Given the description of an element on the screen output the (x, y) to click on. 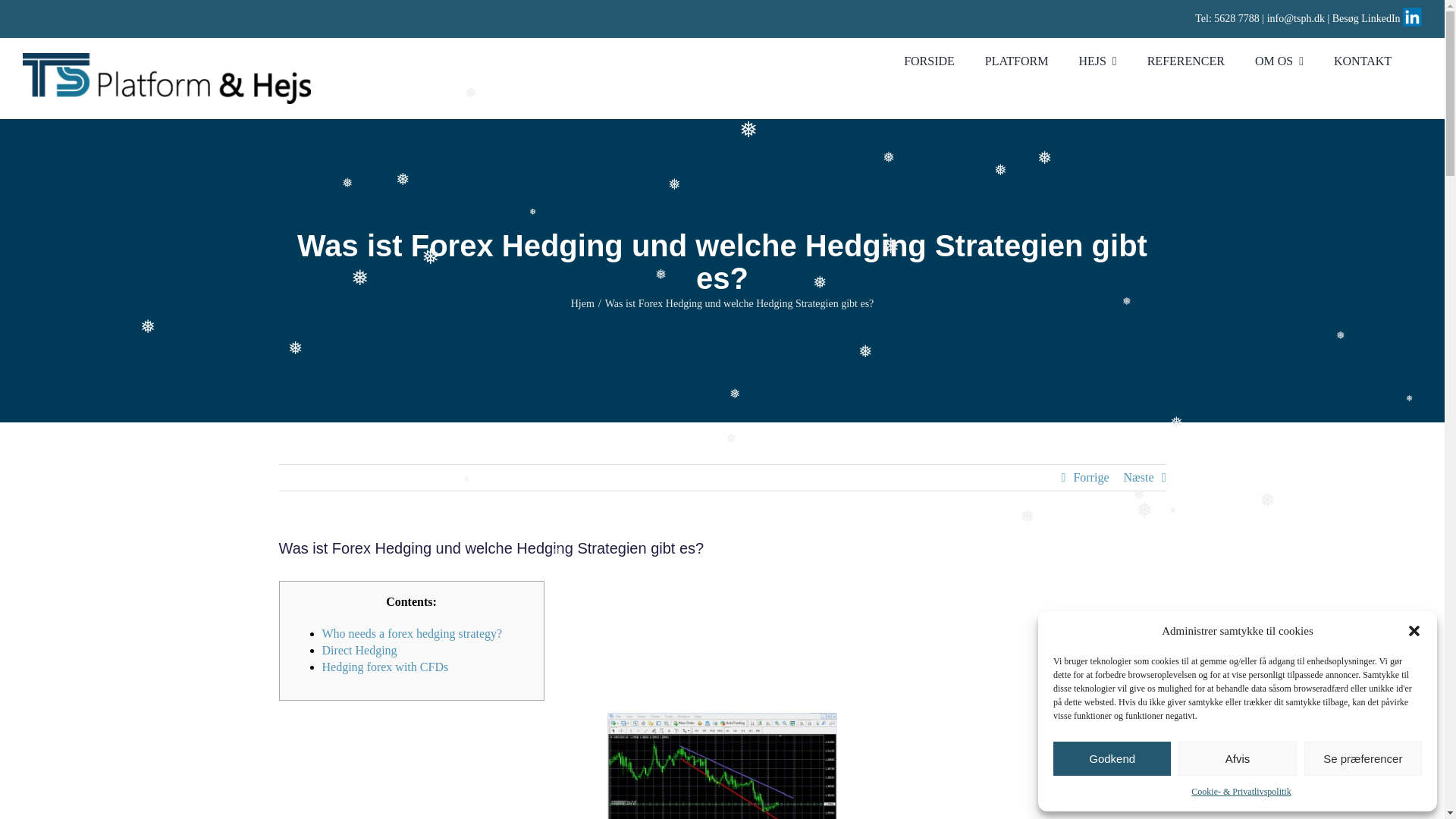
Who needs a forex hedging strategy? (411, 633)
FORSIDE (944, 53)
Direct Hedging (358, 649)
KONTAKT (1377, 53)
Tel: 5628 7788 (1227, 18)
HEJS (1112, 53)
Godkend (1111, 758)
OM OS (1294, 53)
PLATFORM (1031, 53)
Afvis (1236, 758)
Hjem (582, 303)
Forrige (1090, 477)
Hedging forex with CFDs (384, 666)
REFERENCER (1201, 53)
